Given the description of an element on the screen output the (x, y) to click on. 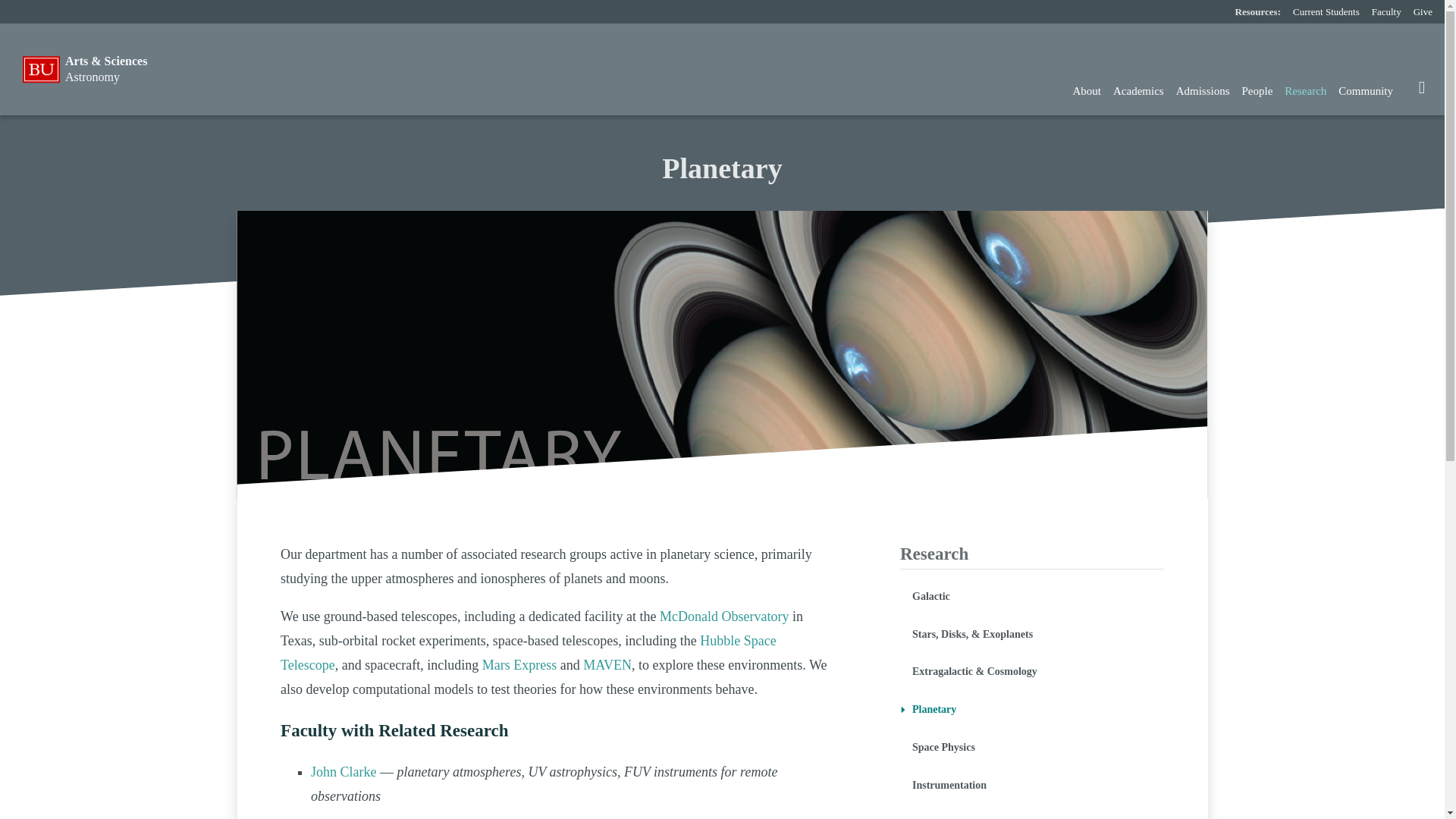
Academics (1138, 91)
Community (1365, 91)
McDonald Observatory (724, 616)
Navigate to: People (1257, 91)
Mars Express (518, 664)
Give (1422, 11)
Faculty (1386, 11)
Admissions (1203, 91)
People (1257, 91)
Navigate to: Academics (1138, 91)
Current Students (1326, 11)
Hubble Space Telescope (528, 652)
Navigate to: Admissions (1203, 91)
Navigate to: Research (1305, 91)
Research (1305, 91)
